Given the description of an element on the screen output the (x, y) to click on. 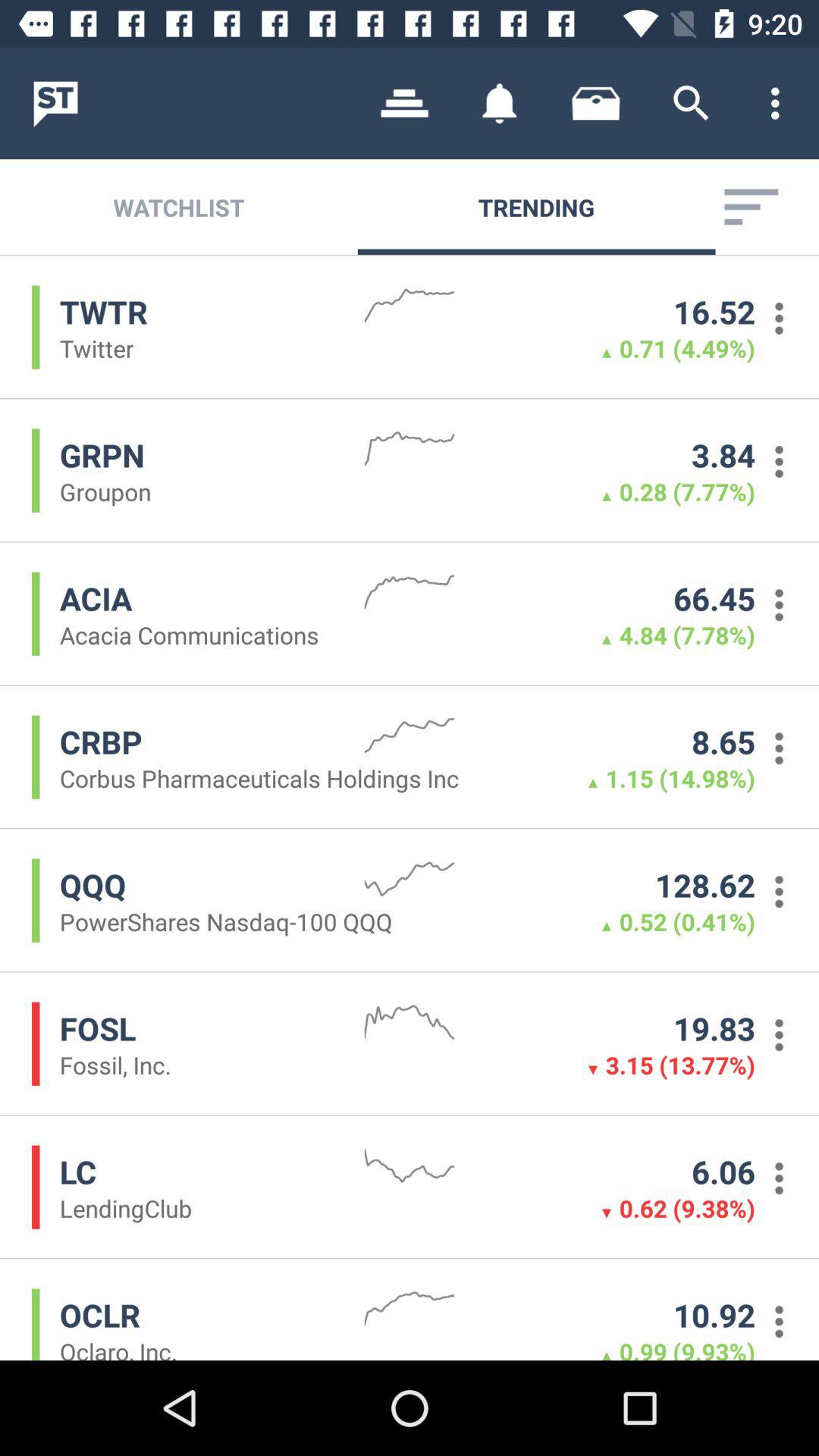
tap item above watchlist (404, 103)
